Given the description of an element on the screen output the (x, y) to click on. 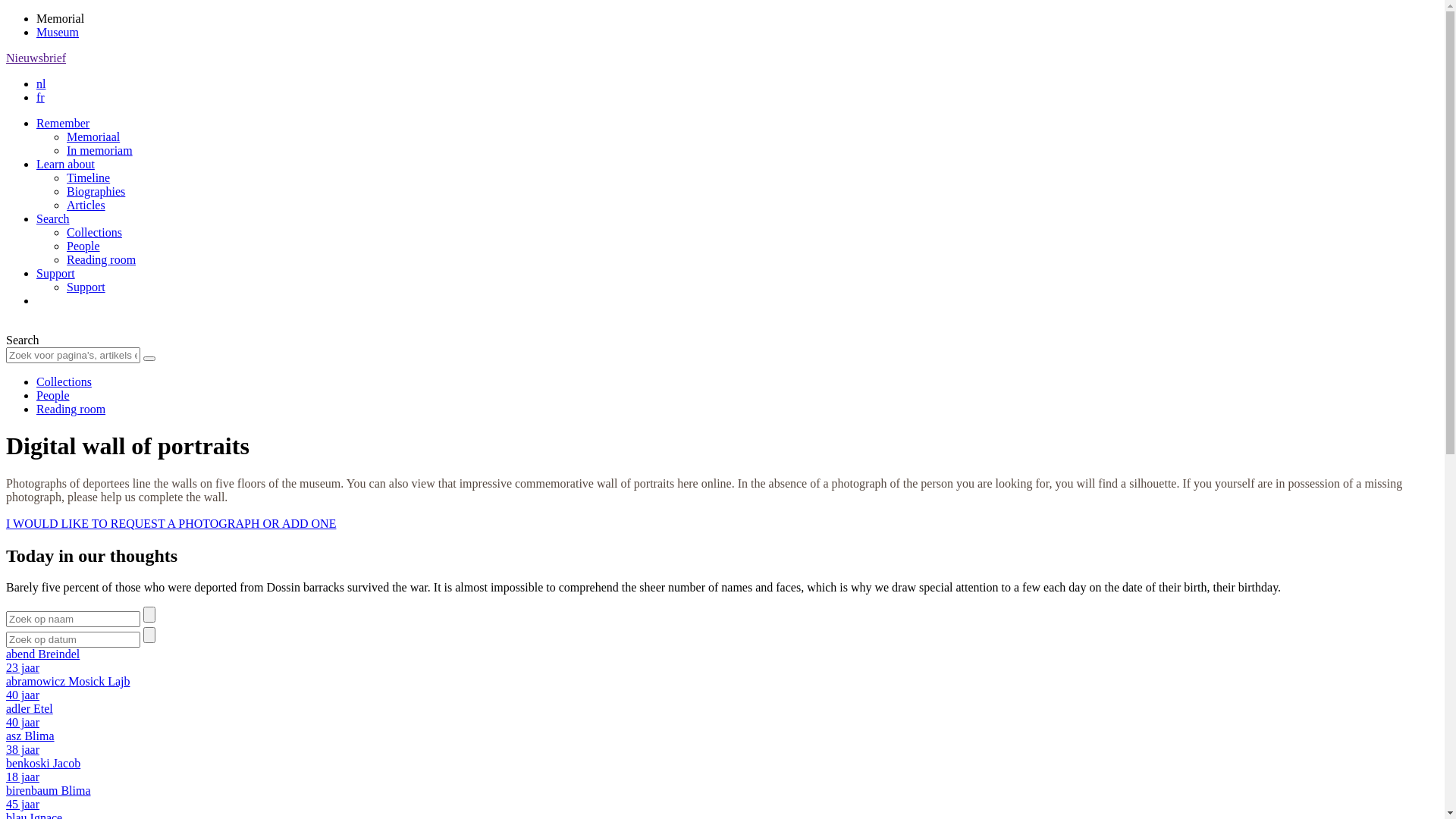
Biographies Element type: text (95, 191)
Search Element type: text (52, 218)
In memoriam Element type: text (99, 150)
Reading room Element type: text (70, 408)
Articles Element type: text (85, 204)
Collections Element type: text (63, 381)
Reading room Element type: text (100, 259)
adler Etel
40 jaar Element type: text (722, 715)
benkoski Jacob
18 jaar Element type: text (722, 770)
fr Element type: text (40, 97)
nl Element type: text (40, 83)
Support Element type: text (85, 286)
Learn about Element type: text (65, 163)
asz Blima
38 jaar Element type: text (722, 742)
abend Breindel
23 jaar Element type: text (722, 660)
birenbaum Blima
45 jaar Element type: text (722, 797)
I WOULD LIKE TO REQUEST A PHOTOGRAPH OR ADD ONE Element type: text (170, 523)
Remember Element type: text (62, 122)
Support Element type: text (55, 272)
Museum Element type: text (57, 31)
Memoriaal Element type: text (92, 136)
Collections Element type: text (94, 231)
People Element type: text (83, 245)
abramowicz Mosick Lajb
40 jaar Element type: text (722, 688)
Timeline Element type: text (87, 177)
People Element type: text (52, 395)
Nieuwsbrief Element type: text (35, 57)
